Given the description of an element on the screen output the (x, y) to click on. 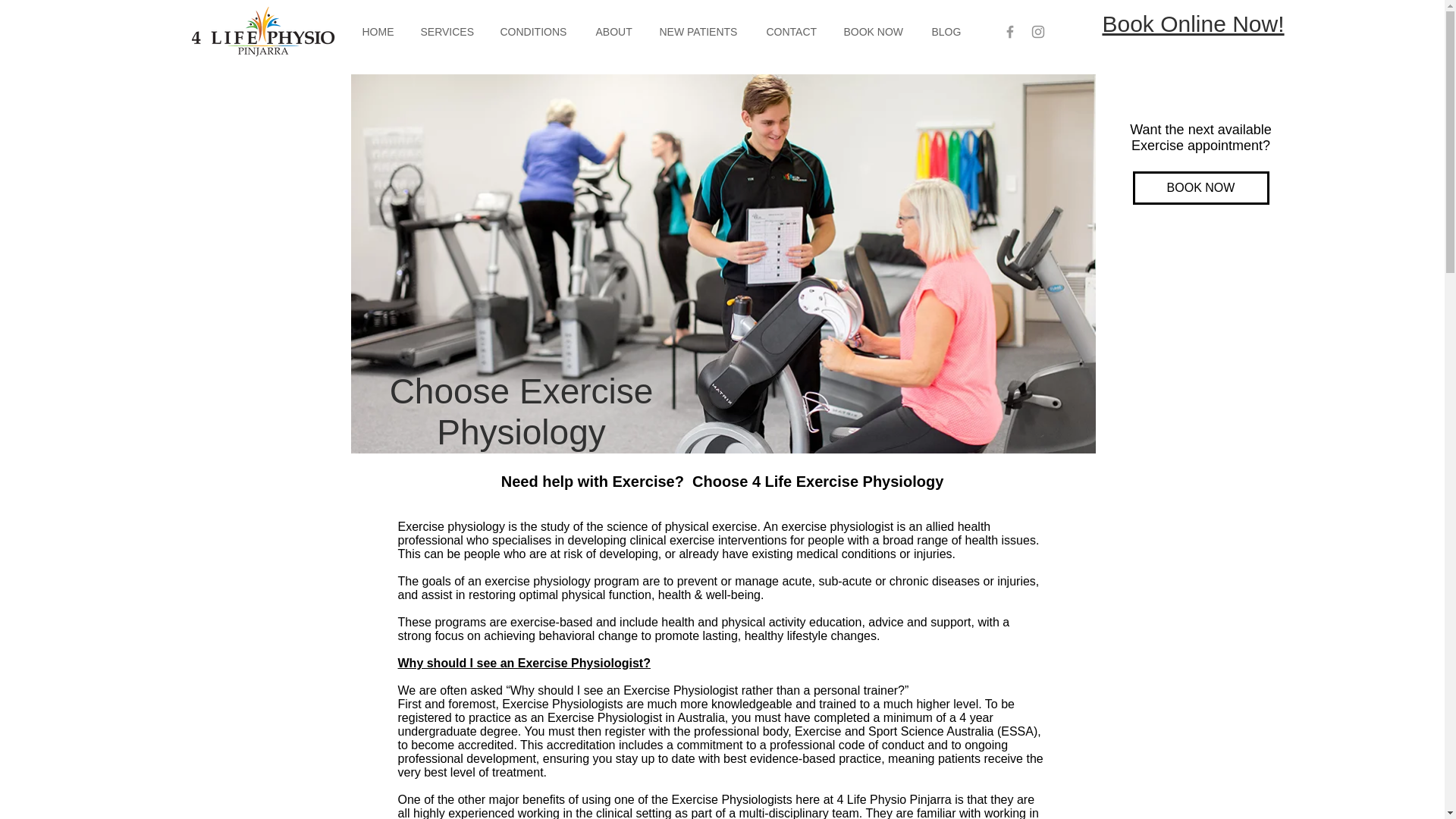
CONDITIONS (535, 31)
BOOK NOW (876, 31)
BOOK NOW (1200, 187)
ABOUT (615, 31)
BLOG (947, 31)
CONTACT (793, 31)
NEW PATIENTS (700, 31)
SERVICES (449, 31)
Book Online Now! (1193, 23)
HOME (379, 31)
